Given the description of an element on the screen output the (x, y) to click on. 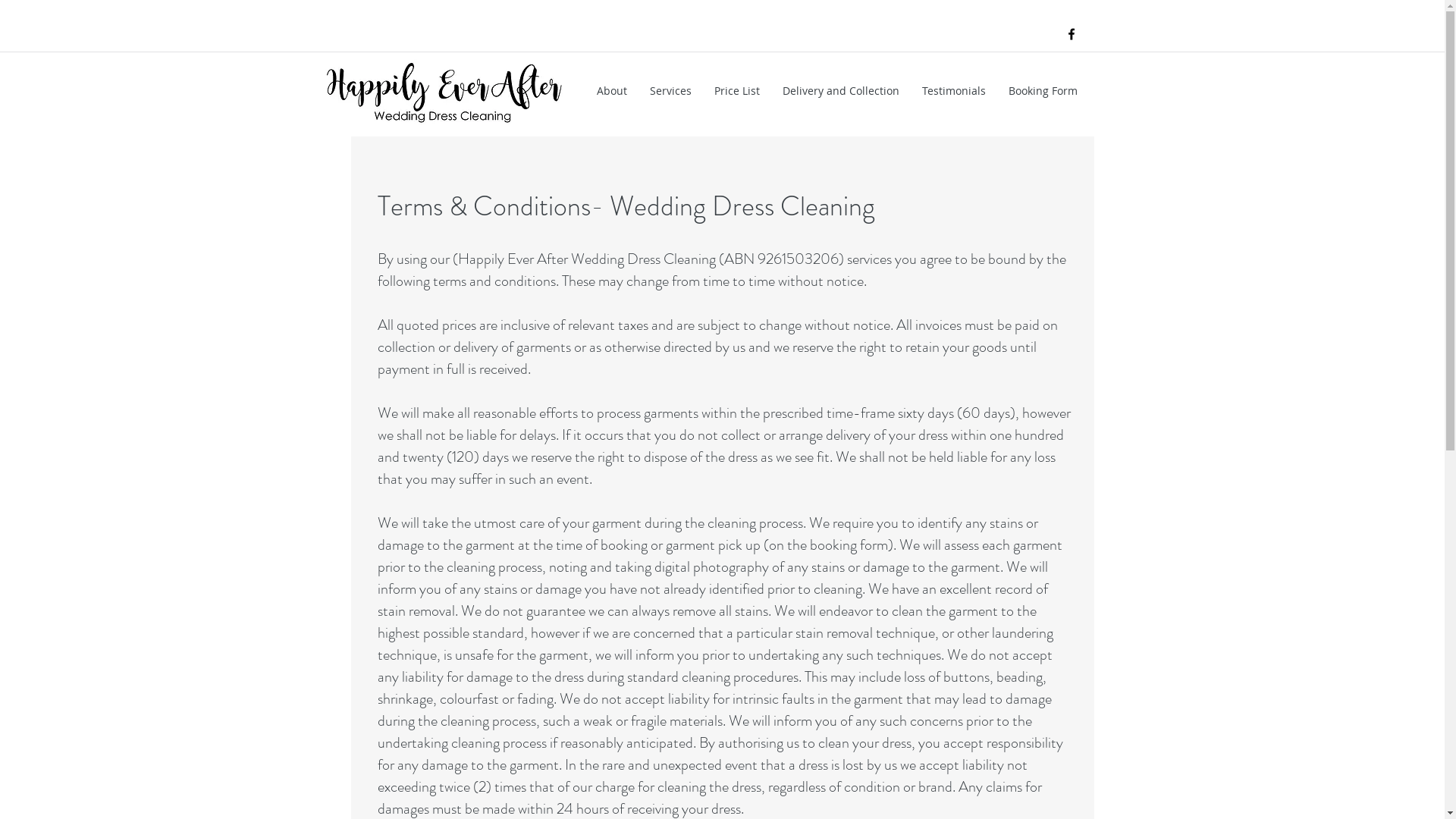
About Element type: text (611, 90)
Testimonials Element type: text (953, 90)
Services Element type: text (670, 90)
Delivery and Collection Element type: text (840, 90)
Price List Element type: text (736, 90)
Booking Form Element type: text (1042, 90)
